Given the description of an element on the screen output the (x, y) to click on. 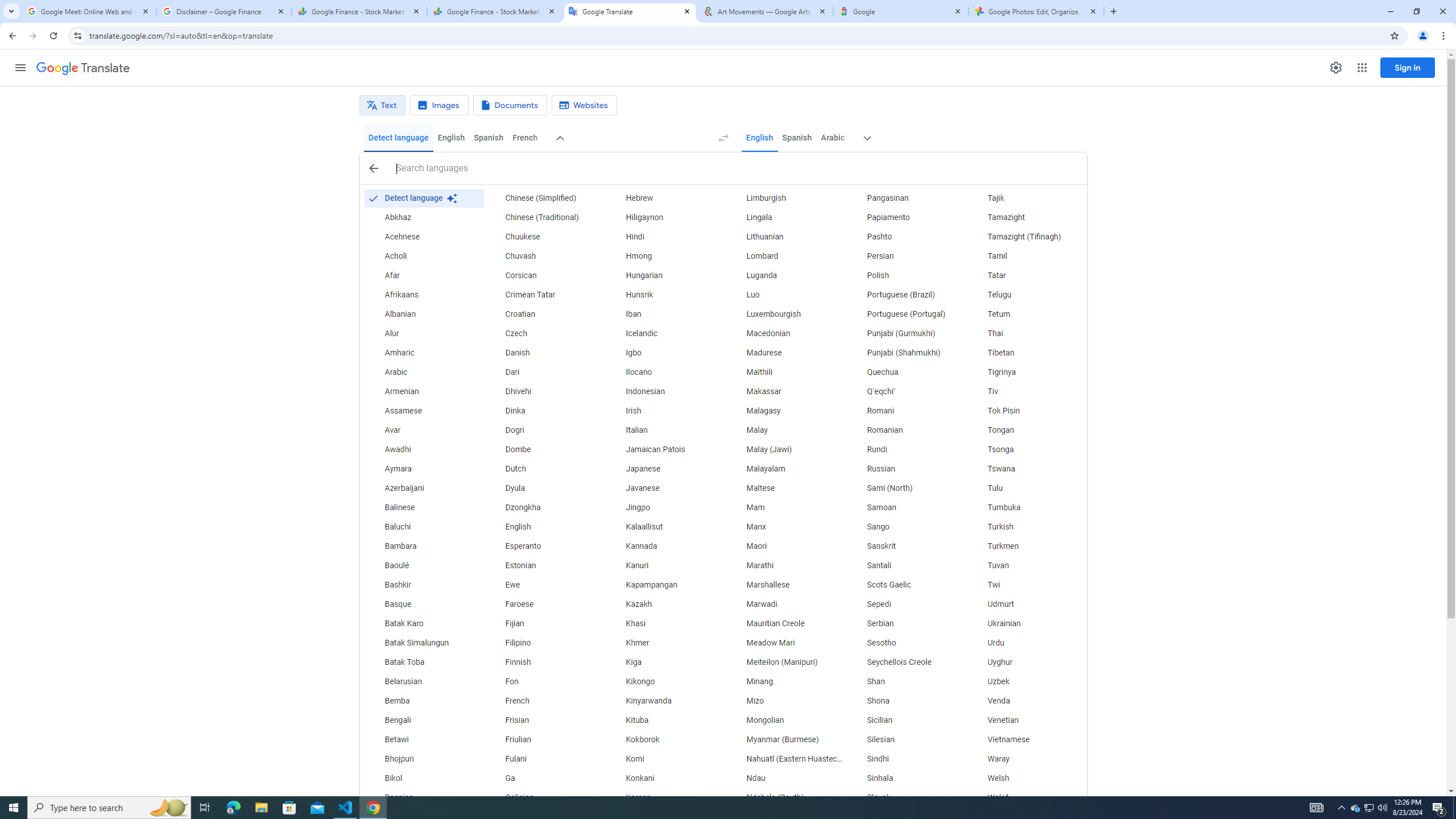
Acholi (423, 256)
Assamese (423, 411)
Japanese (665, 469)
Tulu (1026, 488)
Ga (544, 778)
Hiligaynon (665, 217)
Tigrinya (1026, 372)
Albanian (423, 314)
Betawi (423, 739)
Kinyarwanda (665, 701)
